Given the description of an element on the screen output the (x, y) to click on. 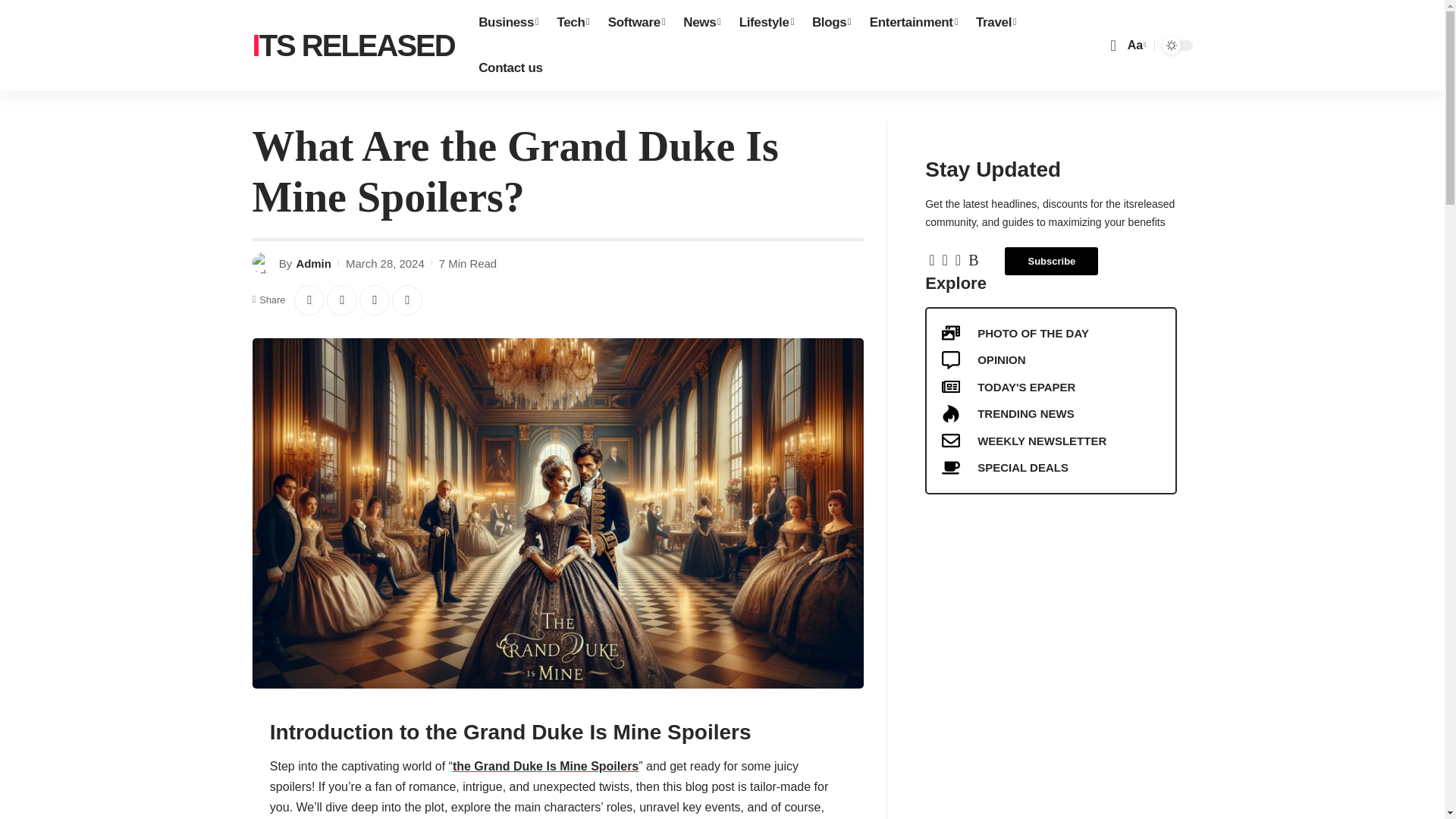
Software (636, 22)
ITS RELEASED (352, 45)
Its Released (352, 45)
Tech (572, 22)
Business (507, 22)
